Given the description of an element on the screen output the (x, y) to click on. 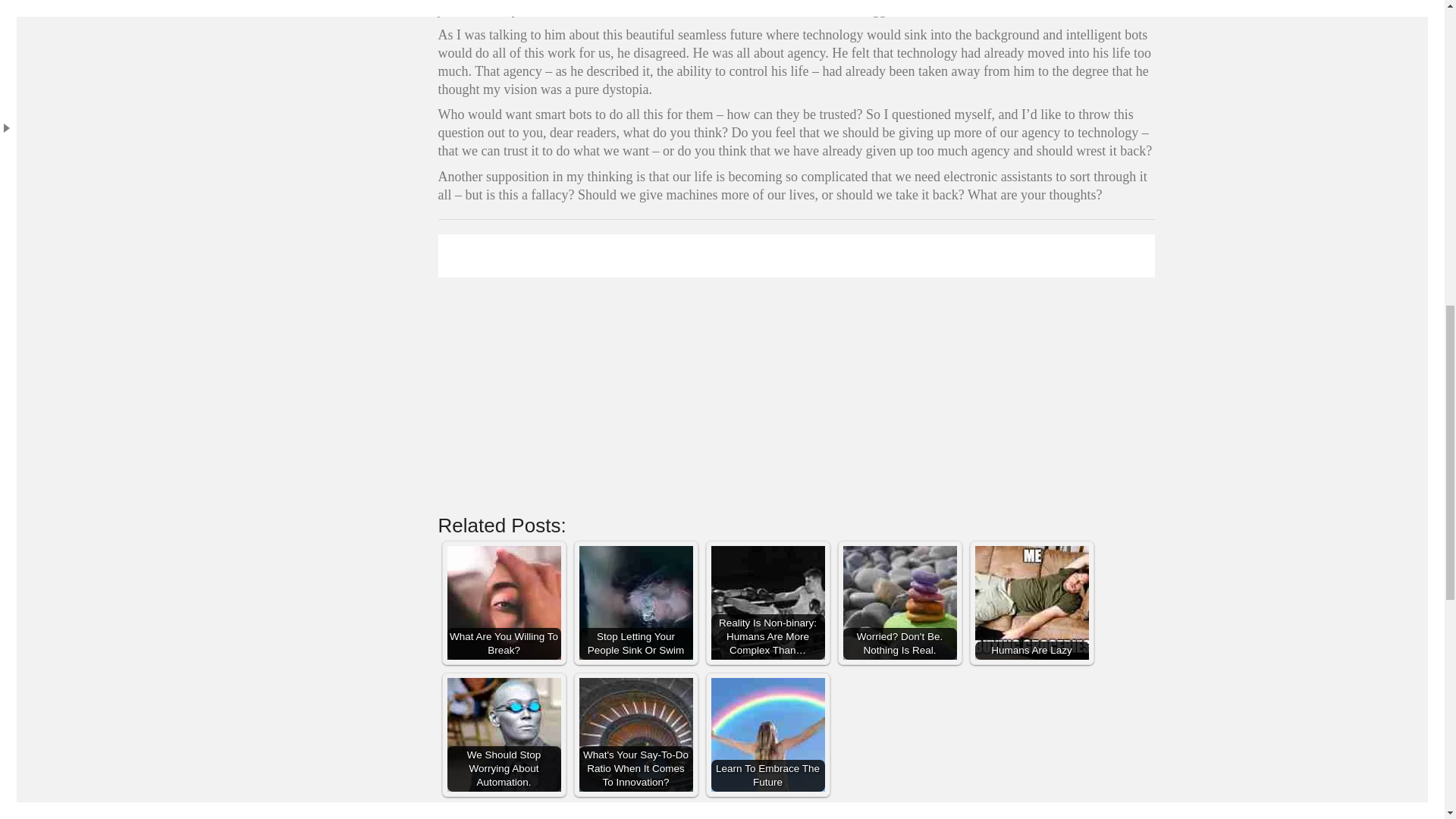
Pinterest (814, 813)
Stop Letting Your People Sink Or Swim (636, 603)
What's Your Say-To-Do Ratio When It Comes To Innovation? (636, 734)
Facebook (741, 813)
LinkedIn (778, 813)
Email This (887, 813)
Learn To Embrace The Future (768, 734)
What Are You Willing To Break? (503, 603)
Form 1 (796, 370)
